Given the description of an element on the screen output the (x, y) to click on. 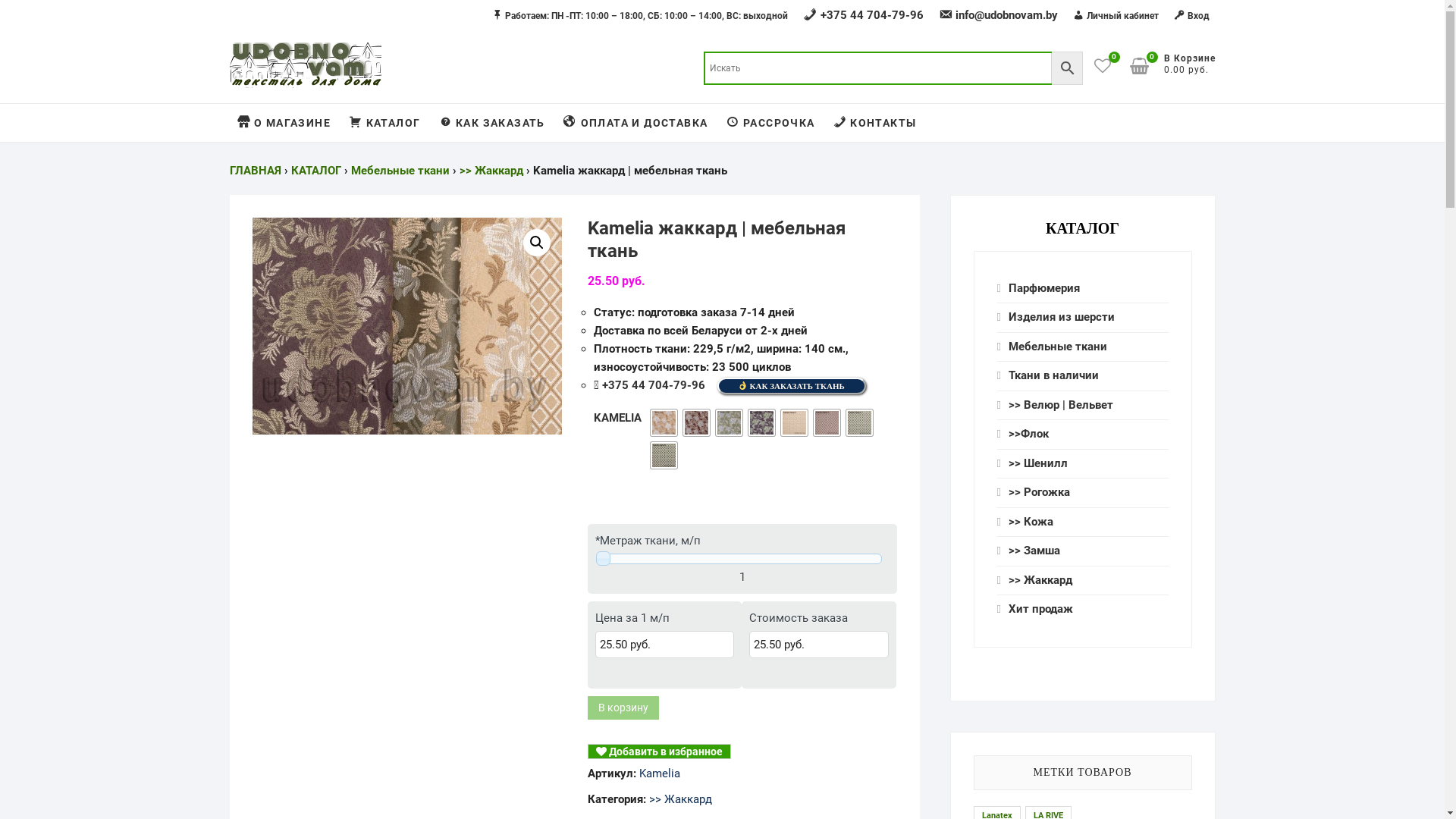
0 Element type: text (1109, 65)
03 Element type: hover (728, 422)
+375 44 704-79-96 Element type: text (653, 385)
+375 44 704-79-96 Element type: text (863, 14)
Romb-04 Element type: hover (663, 455)
Romb-01 Element type: hover (794, 422)
0 Element type: text (1146, 65)
Romb-02 Element type: hover (825, 422)
info@udobnovam.by Element type: text (998, 14)
02 Element type: hover (695, 422)
04 Element type: hover (760, 422)
Romb-03 Element type: hover (859, 422)
01 Element type: hover (663, 422)
